Given the description of an element on the screen output the (x, y) to click on. 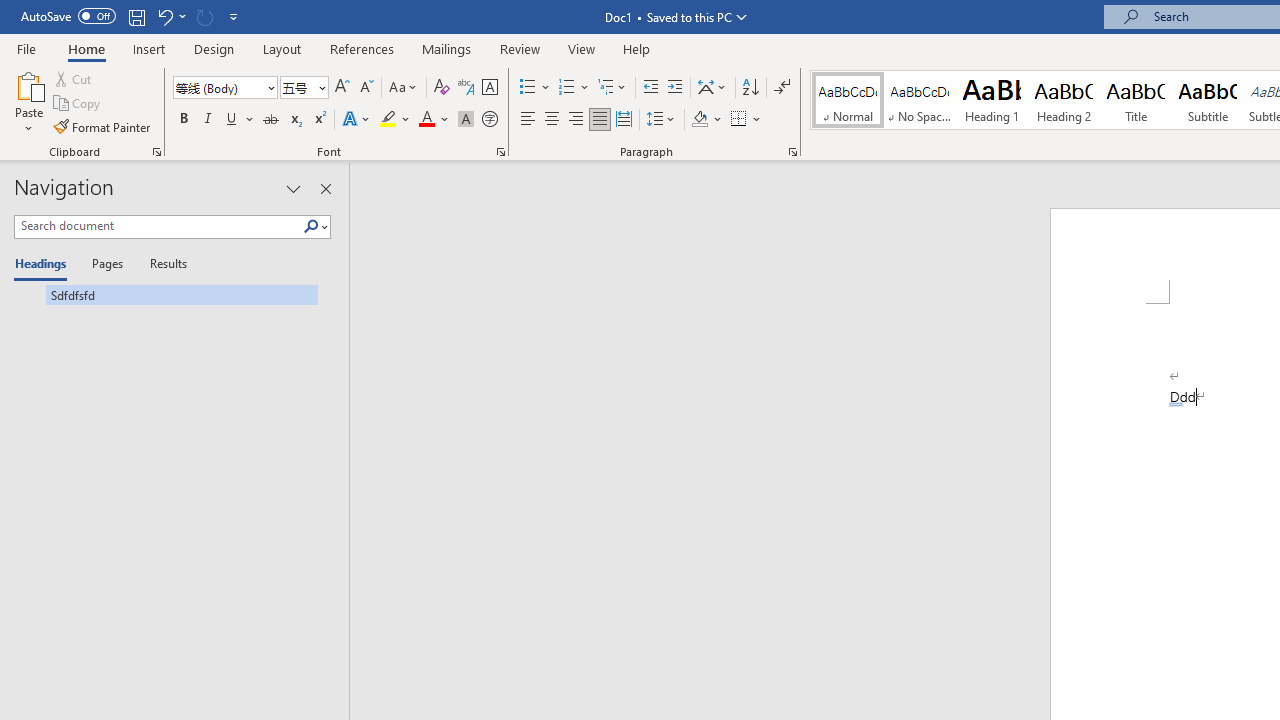
Action: Undo Auto Actions (1175, 403)
